Given the description of an element on the screen output the (x, y) to click on. 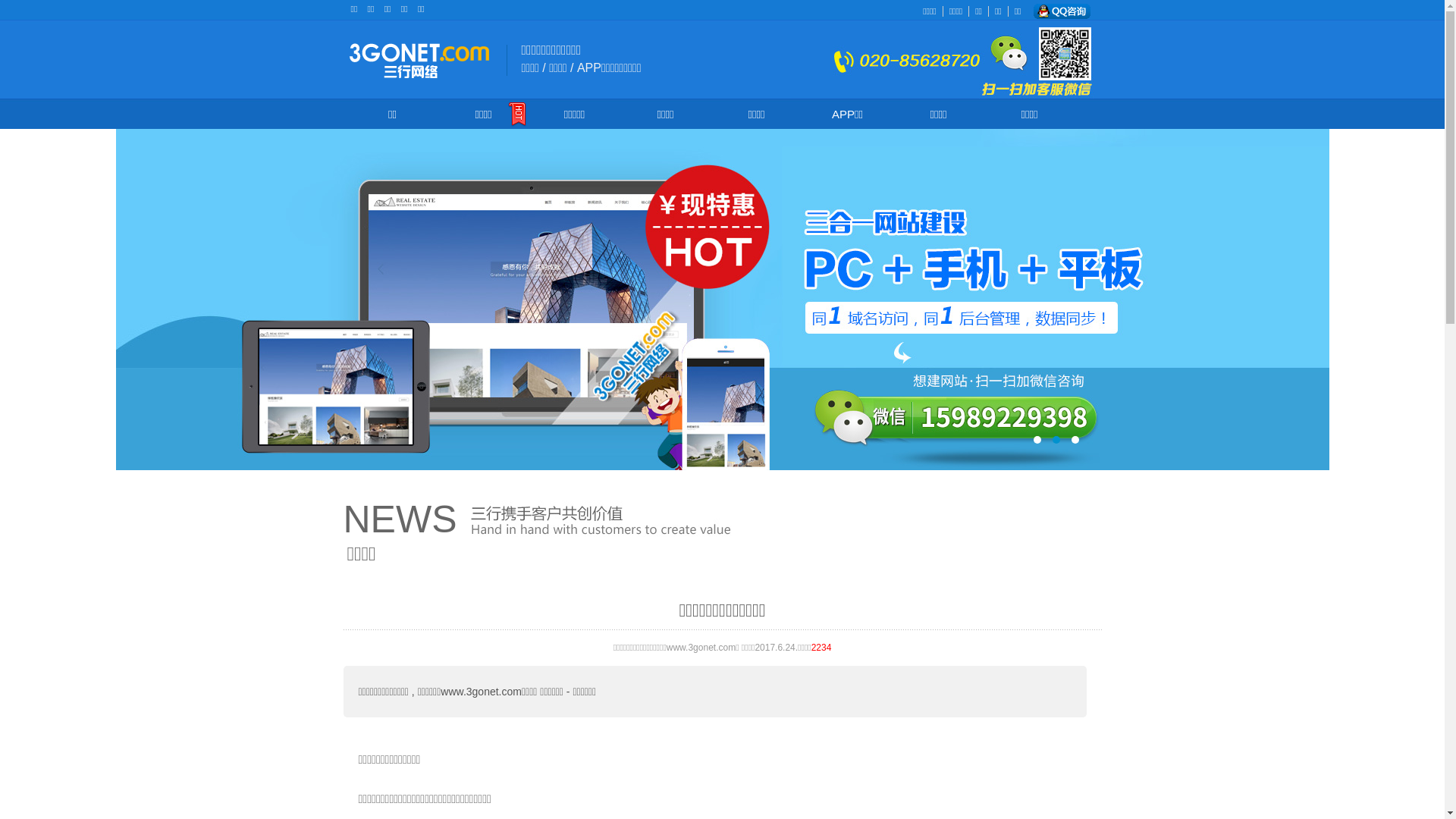
  Element type: text (722, 299)
1 Element type: text (1036, 439)
2 Element type: text (1056, 439)
  Element type: text (1060, 11)
QQ:974365087 Element type: hover (1060, 11)
3 Element type: text (1074, 439)
